Given the description of an element on the screen output the (x, y) to click on. 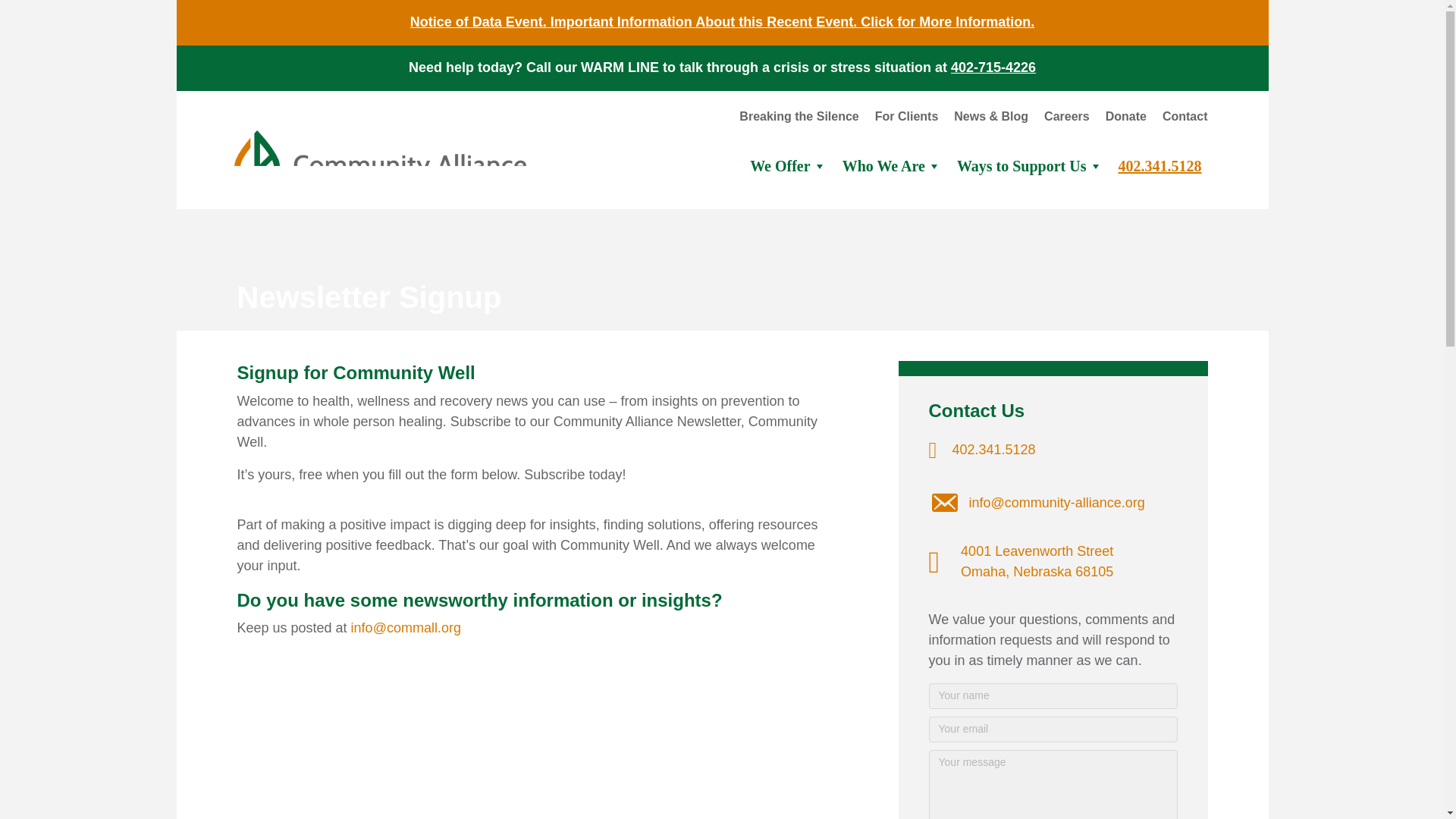
Contact (1177, 120)
402-715-4226 (992, 67)
Careers (1059, 120)
Who We Are (892, 165)
For Clients (899, 120)
Donate (1118, 120)
Breaking the Silence (791, 120)
Ways to Support Us (1031, 165)
We Offer (789, 165)
